Given the description of an element on the screen output the (x, y) to click on. 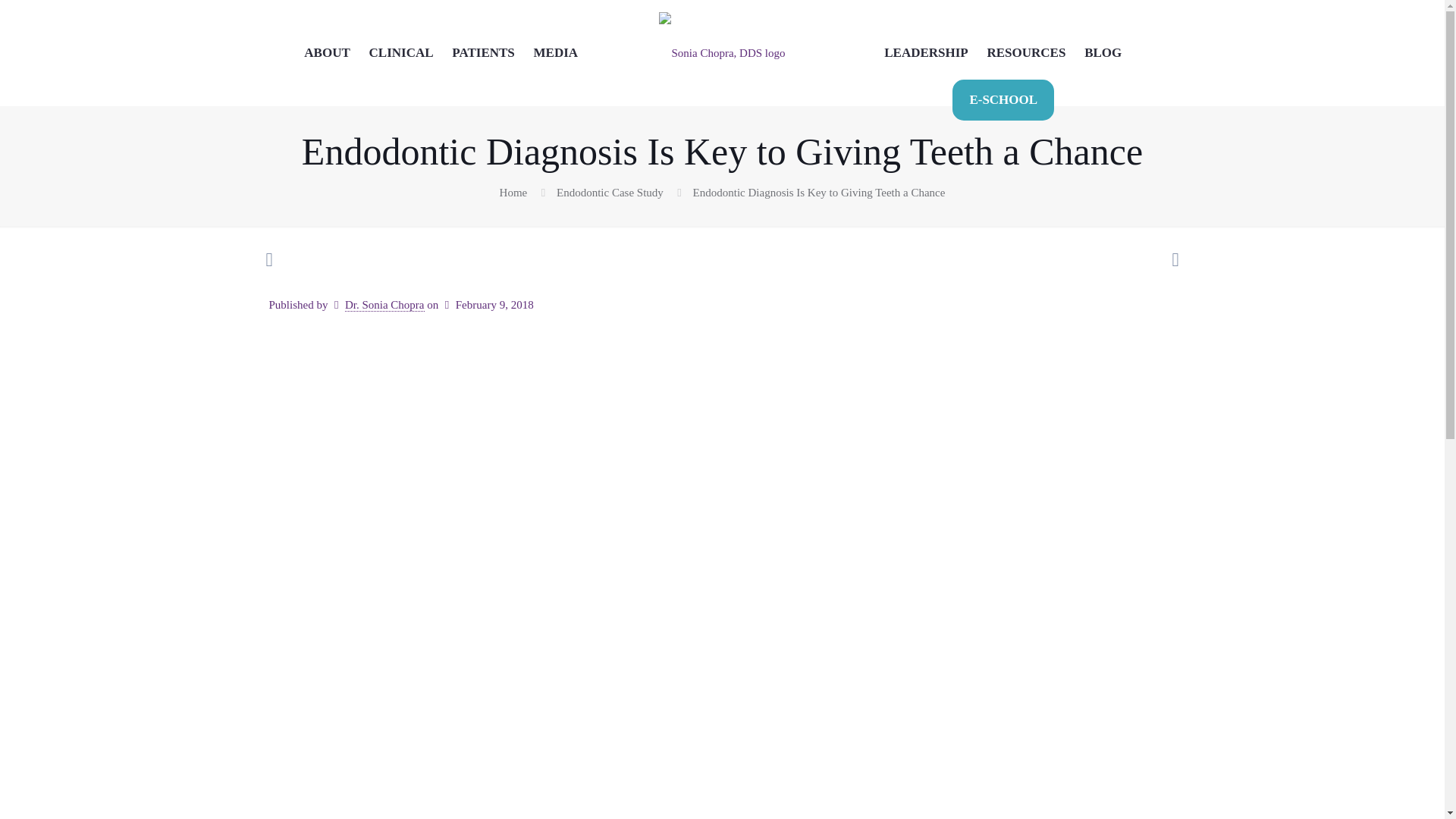
CLINICAL (401, 39)
Sonia Chopra, DDS (721, 52)
RESOURCES (1026, 39)
E-SCHOOL (1003, 98)
Dr. Sonia Chopra (385, 305)
Endodontic Diagnosis Is Key to Giving Teeth a Chance (818, 192)
LEADERSHIP (926, 39)
Endodontic Case Study (609, 192)
Home (513, 192)
PATIENTS (483, 39)
